Given the description of an element on the screen output the (x, y) to click on. 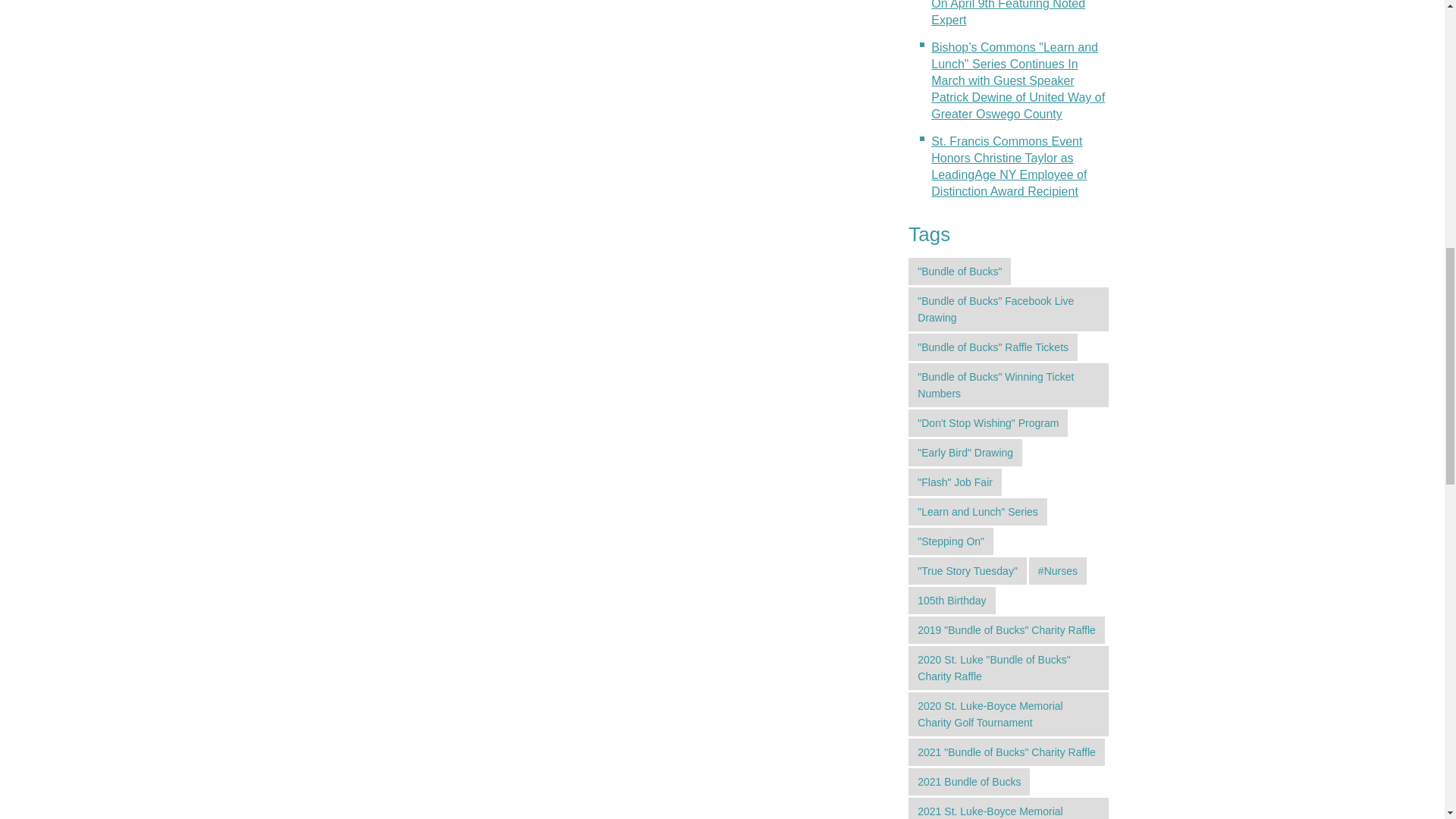
"Bundle of Bucks" (959, 271)
"Bundle of Bucks" Facebook Live Drawing (1008, 309)
"Don't Stop Wishing" Program (987, 422)
"Bundle of Bucks" Winning Ticket Numbers (1008, 385)
"Early Bird" Drawing (965, 452)
"Flash" Job Fair (954, 482)
"Bundle of Bucks" Raffle Tickets (992, 347)
